Given the description of an element on the screen output the (x, y) to click on. 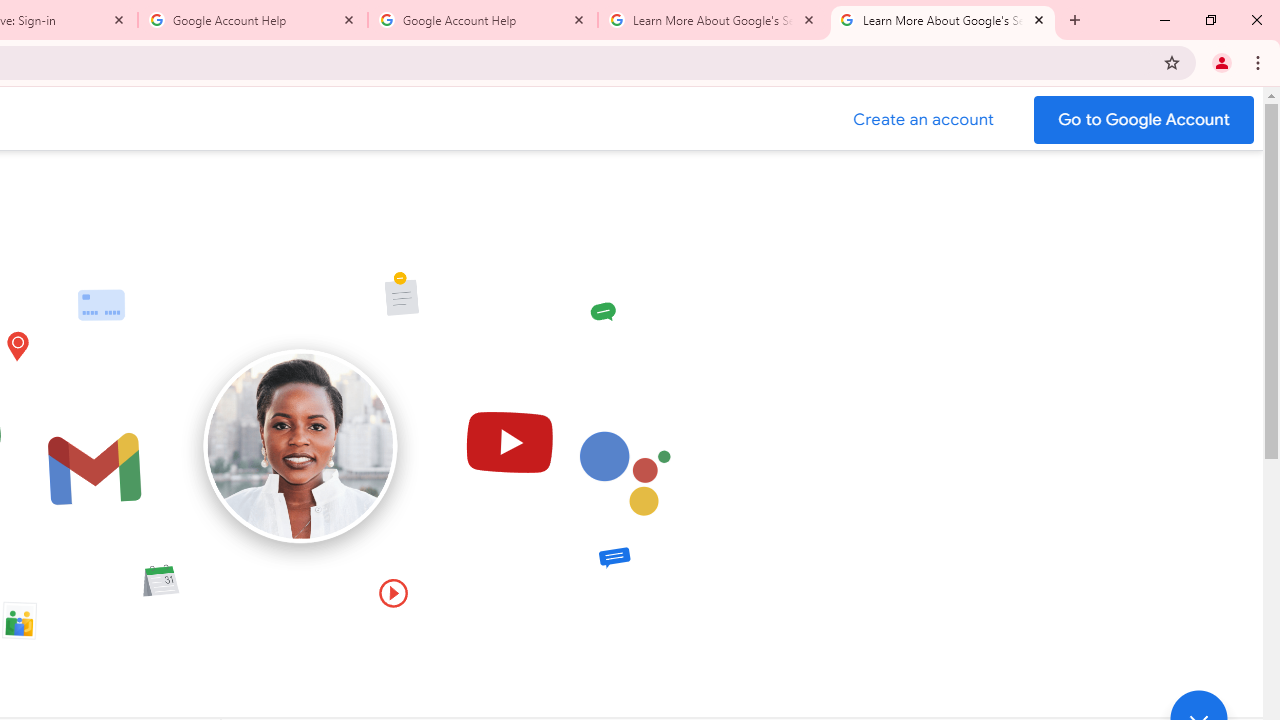
Google Account Help (253, 20)
Create a Google Account (923, 119)
Google Account Help (482, 20)
Go to your Google Account (1144, 119)
